Given the description of an element on the screen output the (x, y) to click on. 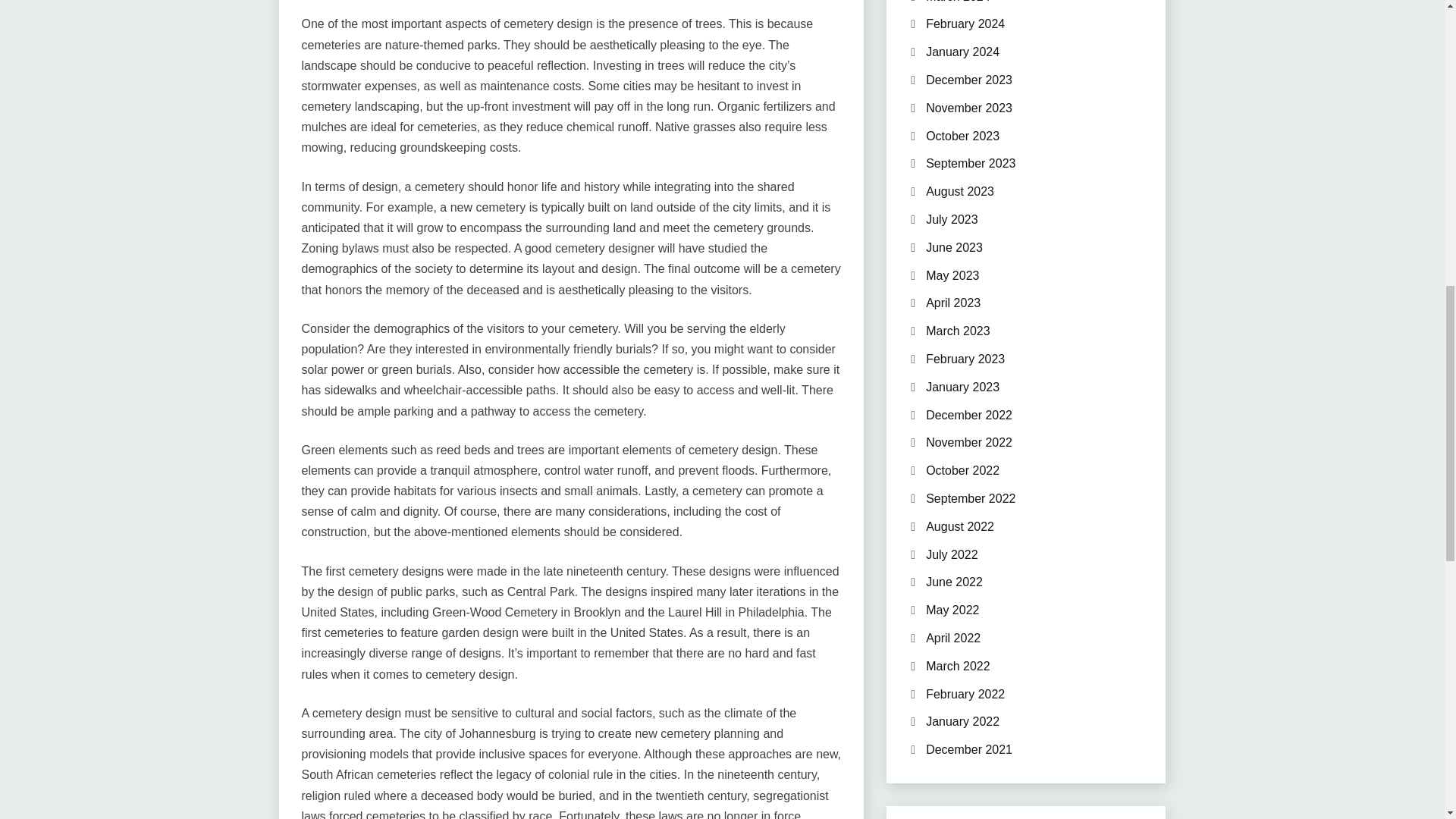
July 2023 (952, 219)
May 2023 (952, 275)
August 2023 (960, 191)
February 2024 (965, 23)
November 2023 (968, 107)
April 2023 (952, 302)
December 2023 (968, 79)
June 2023 (954, 246)
January 2024 (962, 51)
September 2023 (970, 163)
March 2024 (958, 1)
October 2023 (962, 135)
